Given the description of an element on the screen output the (x, y) to click on. 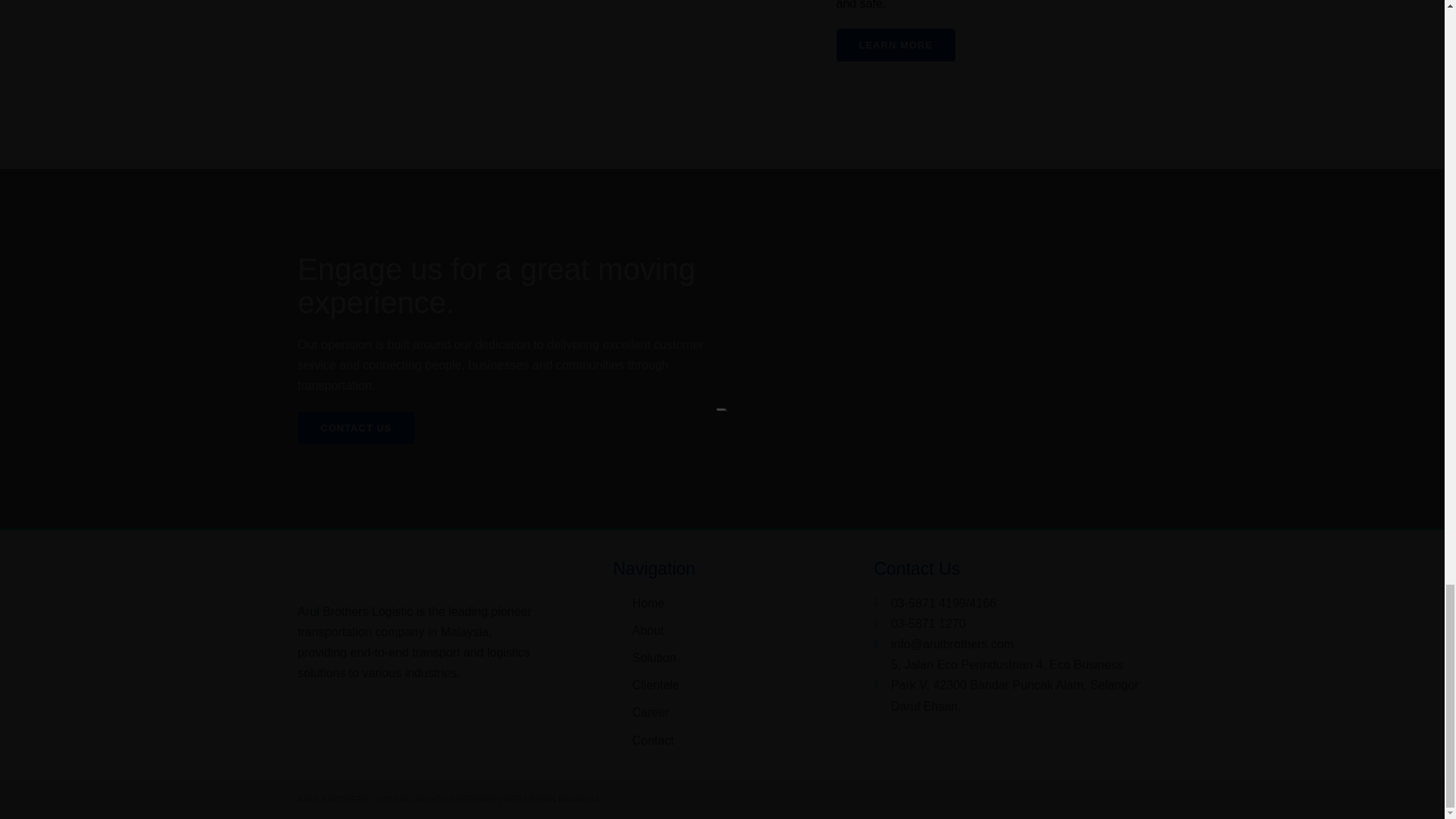
Home (661, 602)
CONTACT US (355, 427)
About (661, 629)
Contact (661, 740)
LEARN MORE (895, 44)
Career (661, 711)
Solution (661, 657)
WEB DESIGN MALAYSIA (550, 798)
Clientele (661, 684)
